Given the description of an element on the screen output the (x, y) to click on. 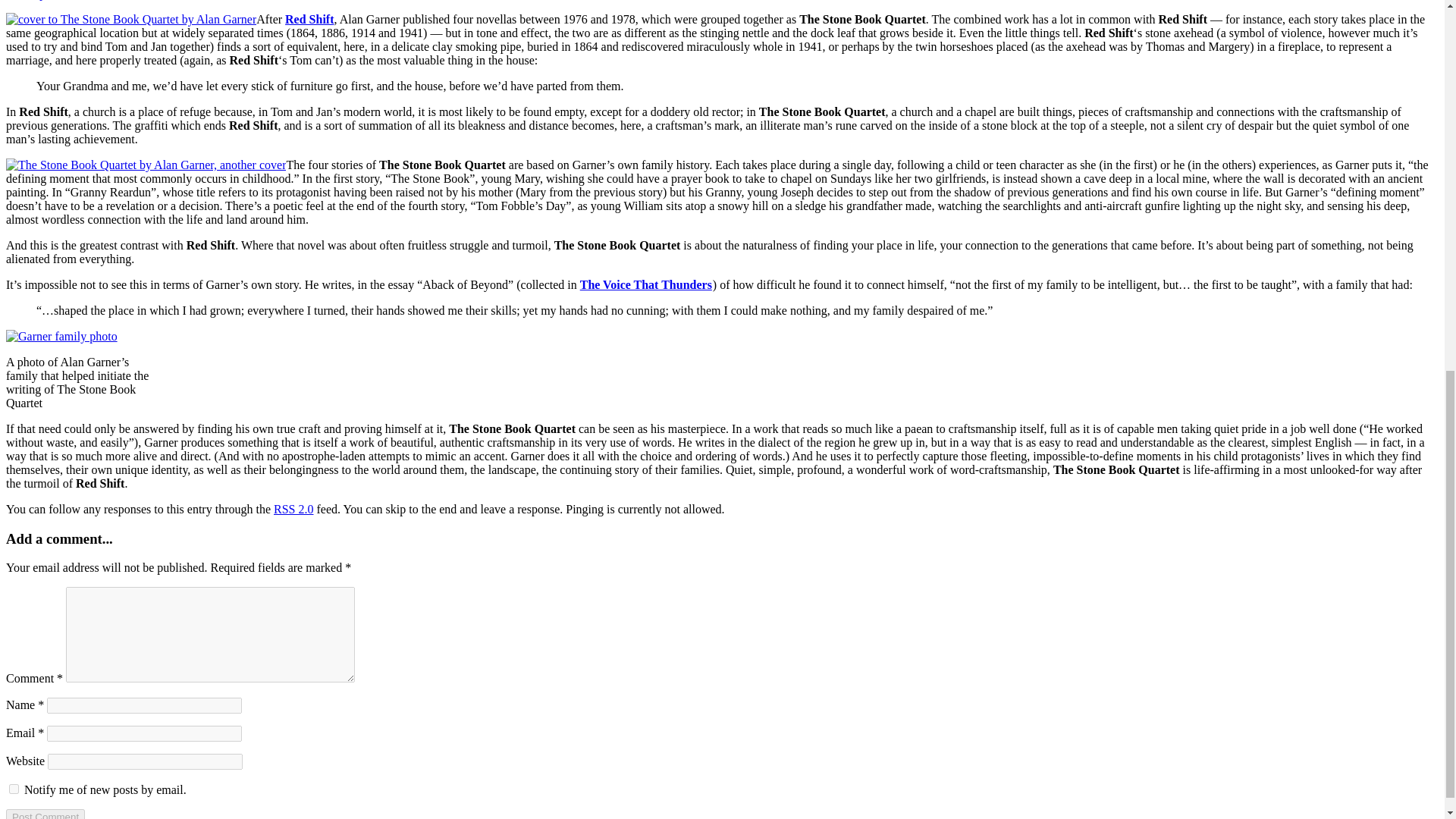
subscribe (13, 788)
Mewsings: Red Shift by Alan Garner (309, 19)
The Stone Book Quartet by Alan Garner (130, 19)
The Stone Book Quartet by Alan Garner, another cover (145, 164)
Red Shift (309, 19)
RSS 2.0 (293, 508)
The Voice That Thunders (645, 284)
Garner family photo (61, 336)
